Given the description of an element on the screen output the (x, y) to click on. 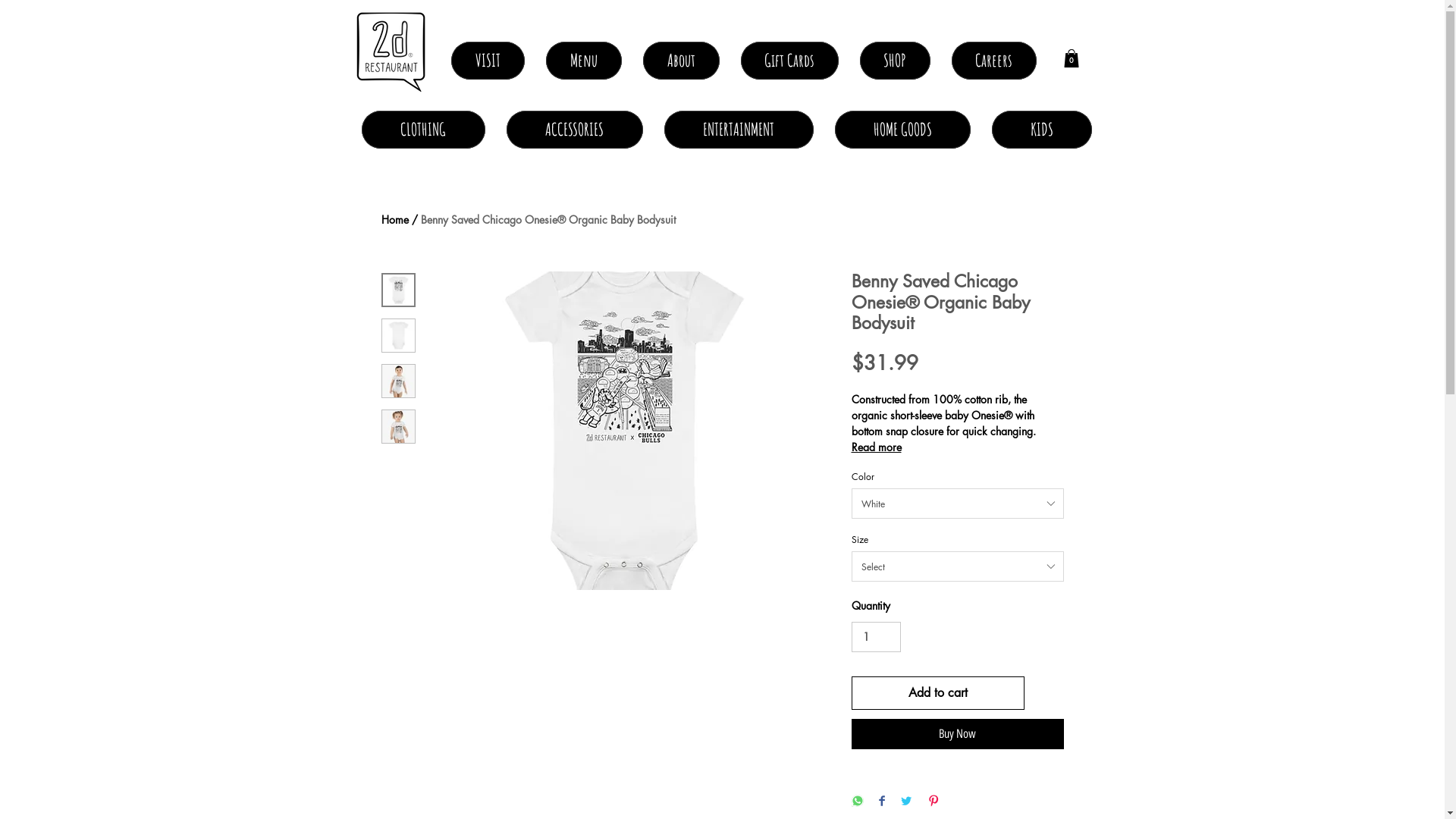
ENTERTAINMENT Element type: text (738, 129)
Read more Element type: text (956, 447)
SHOP Element type: text (894, 60)
CLOTHING Element type: text (422, 129)
Add to cart Element type: text (936, 692)
ACCESSORIES Element type: text (574, 129)
White Element type: text (956, 503)
Log In Element type: text (1139, 60)
Home Element type: text (393, 219)
0 Element type: text (1070, 58)
HOME GOODS Element type: text (901, 129)
Menu Element type: text (583, 60)
Buy Now Element type: text (956, 733)
Select Element type: text (956, 566)
KIDS Element type: text (1041, 129)
VISIT Element type: text (487, 60)
Gift Cards Element type: text (788, 60)
Careers Element type: text (992, 60)
